Given the description of an element on the screen output the (x, y) to click on. 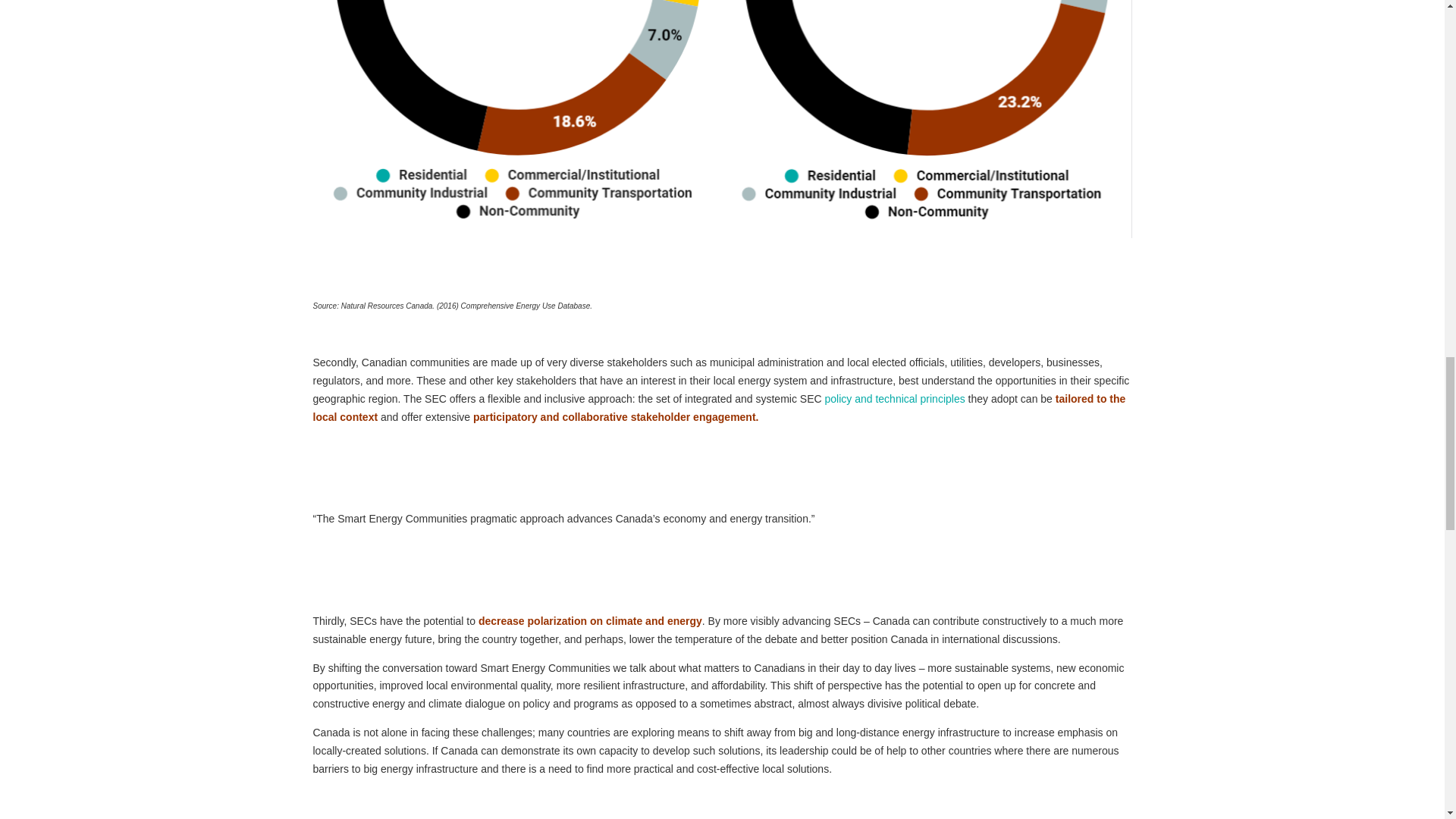
policy and technical principles (893, 398)
